Given the description of an element on the screen output the (x, y) to click on. 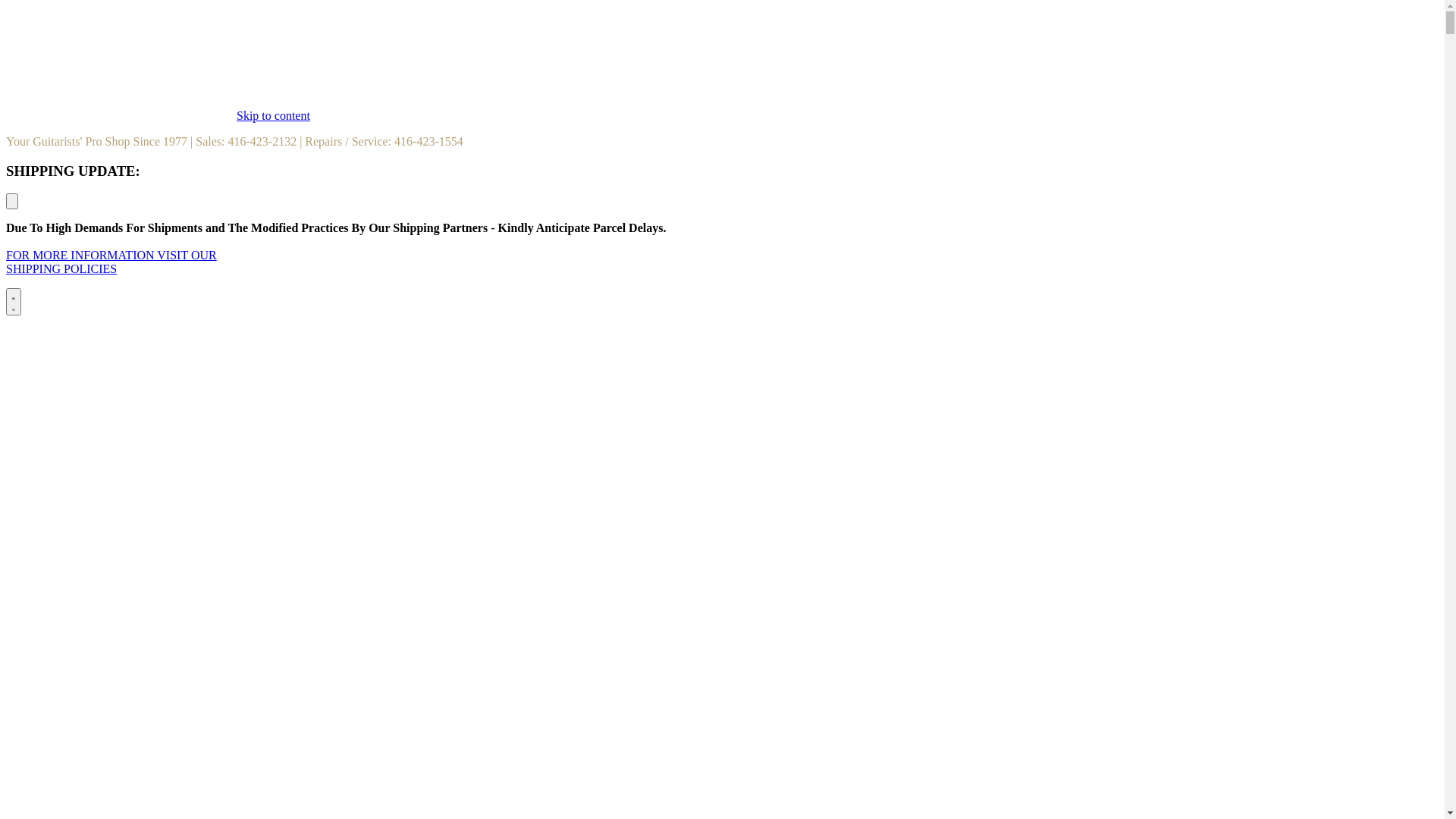
FOR MORE INFORMATION VISIT OUR
SHIPPING POLICIES Element type: text (111, 261)
Skip to content Element type: text (273, 115)
